Given the description of an element on the screen output the (x, y) to click on. 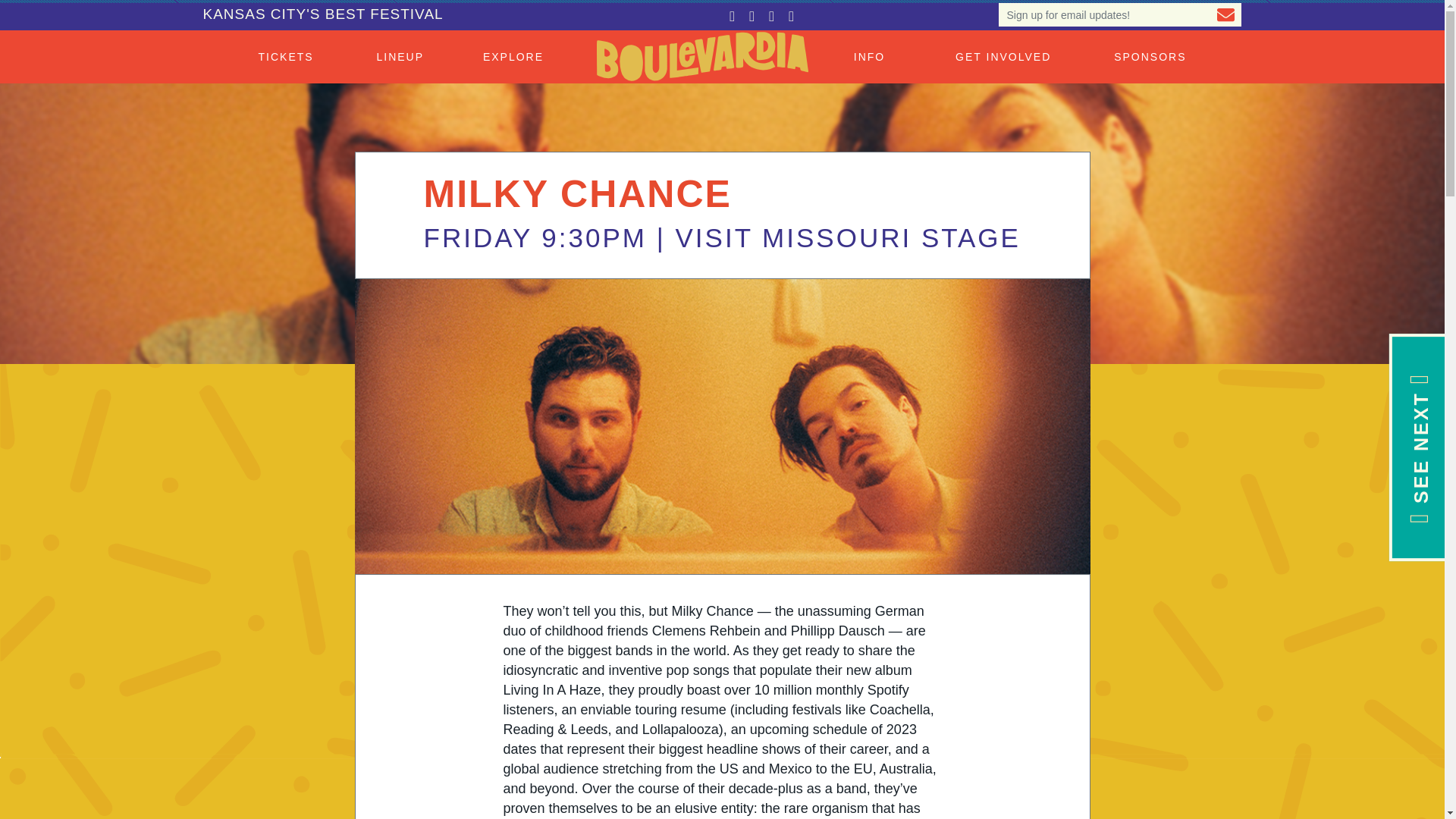
EXPLORE (517, 56)
Send (1225, 14)
INFO (872, 56)
EXPLORE (517, 56)
Send (1225, 14)
TICKETS (286, 56)
LINEUP (403, 56)
GET INVOLVED (1002, 56)
INFO (872, 56)
